Given the description of an element on the screen output the (x, y) to click on. 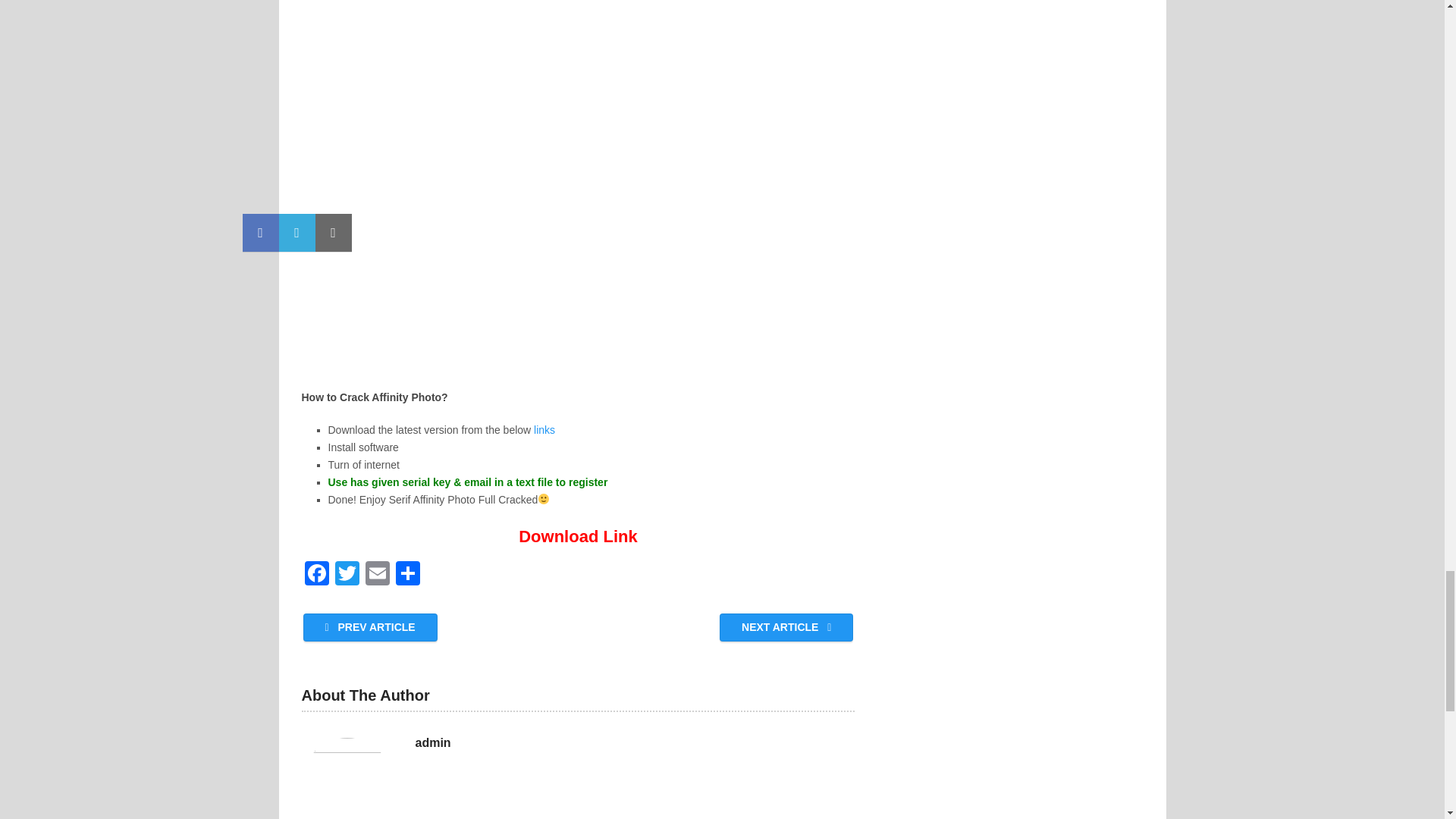
PREV ARTICLE (370, 627)
Download Link (577, 536)
Email (377, 574)
links (542, 429)
Facebook (316, 574)
Twitter (346, 574)
